Given the description of an element on the screen output the (x, y) to click on. 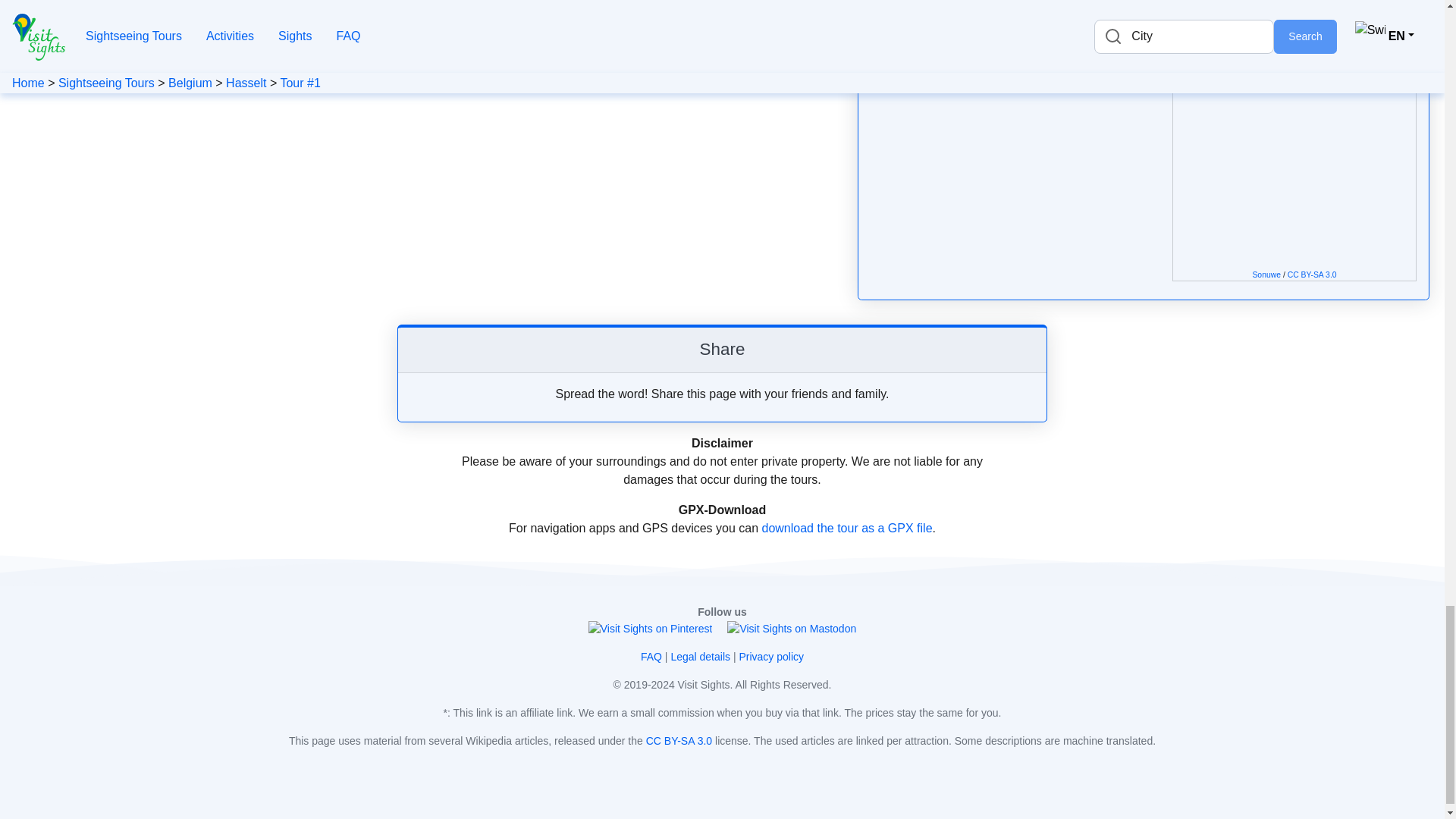
Visit Sights on Mastodon (791, 628)
User:Sonuwe (1266, 275)
Visit Sights on Pinterest (650, 628)
